Given the description of an element on the screen output the (x, y) to click on. 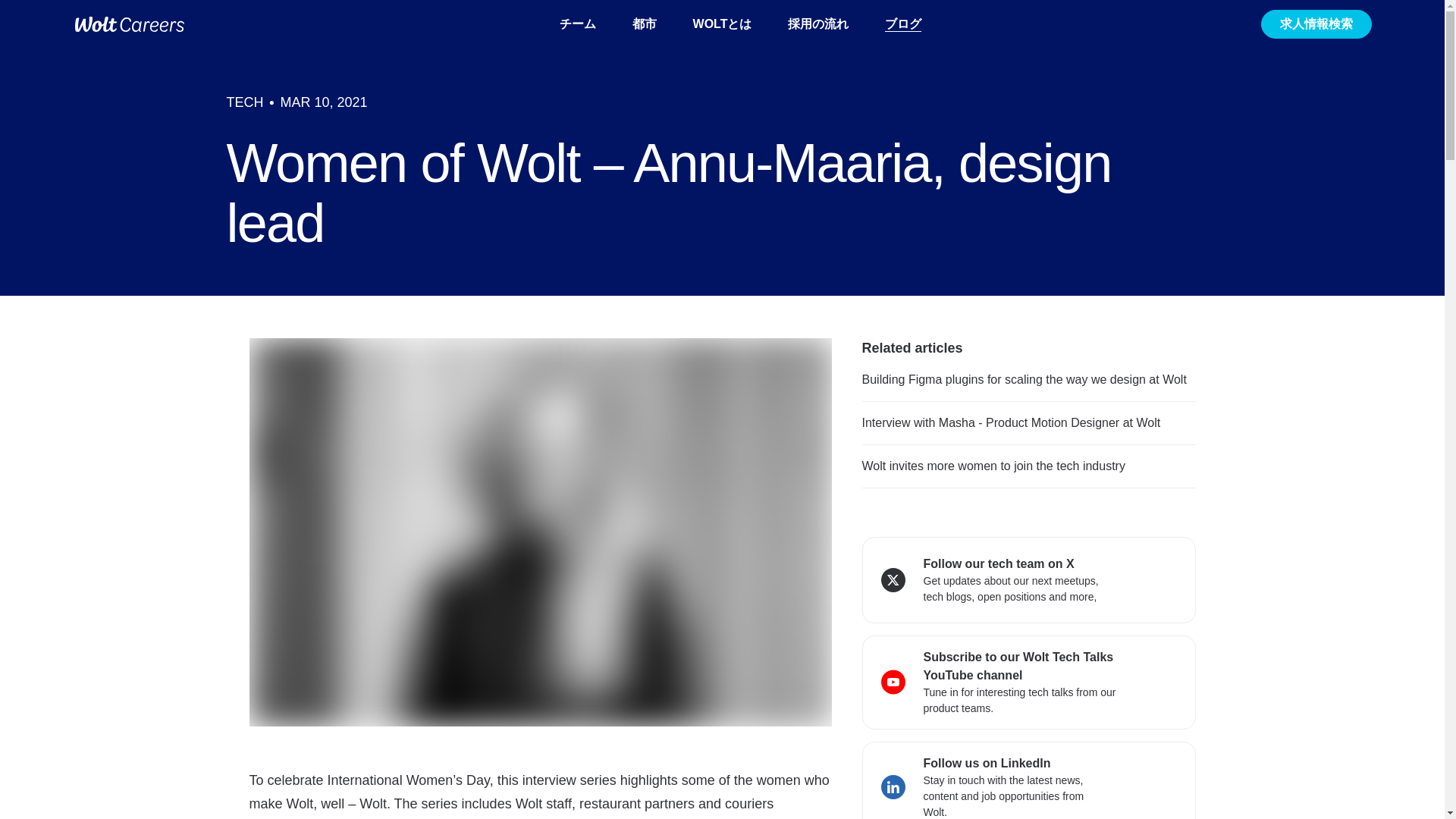
Wolt invites more women to join the tech industry (992, 465)
Interview with Masha - Product Motion Designer at Wolt (1010, 422)
Building Figma plugins for scaling the way we design at Wolt (1023, 379)
